Given the description of an element on the screen output the (x, y) to click on. 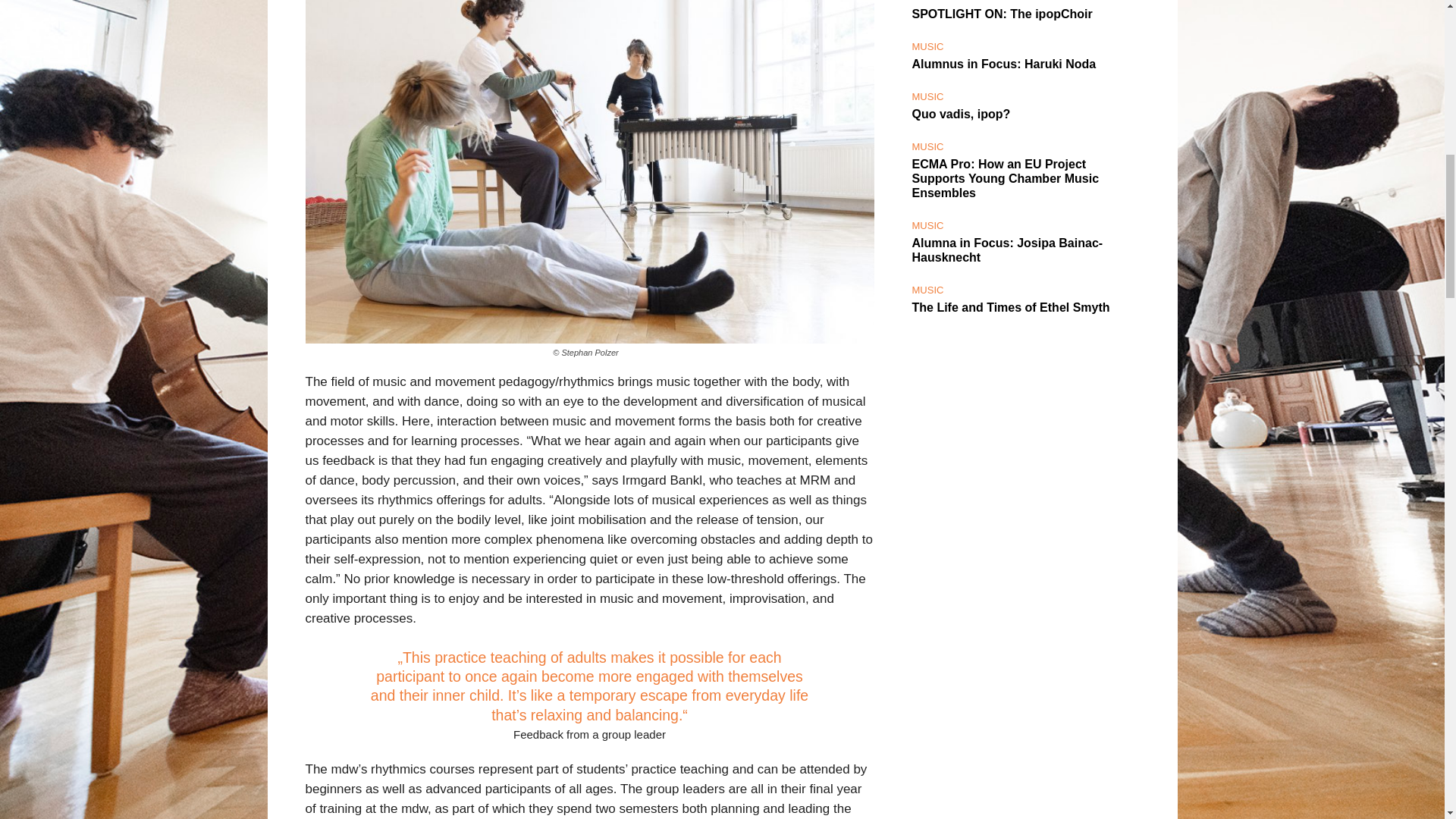
Go Top (1414, 60)
